Given the description of an element on the screen output the (x, y) to click on. 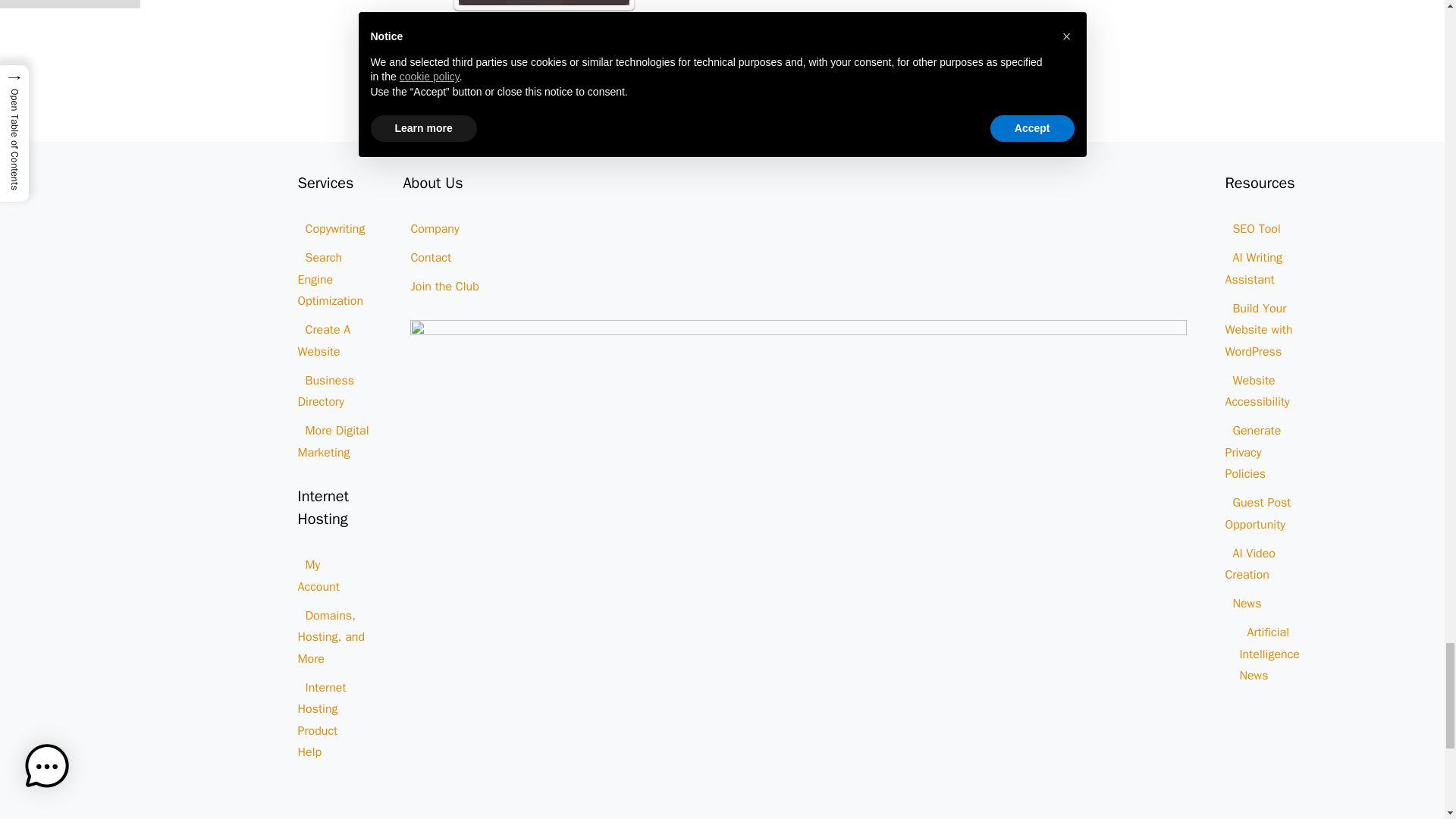
Social Media Marketing Jobs, What You Need to Know (543, 2)
